Given the description of an element on the screen output the (x, y) to click on. 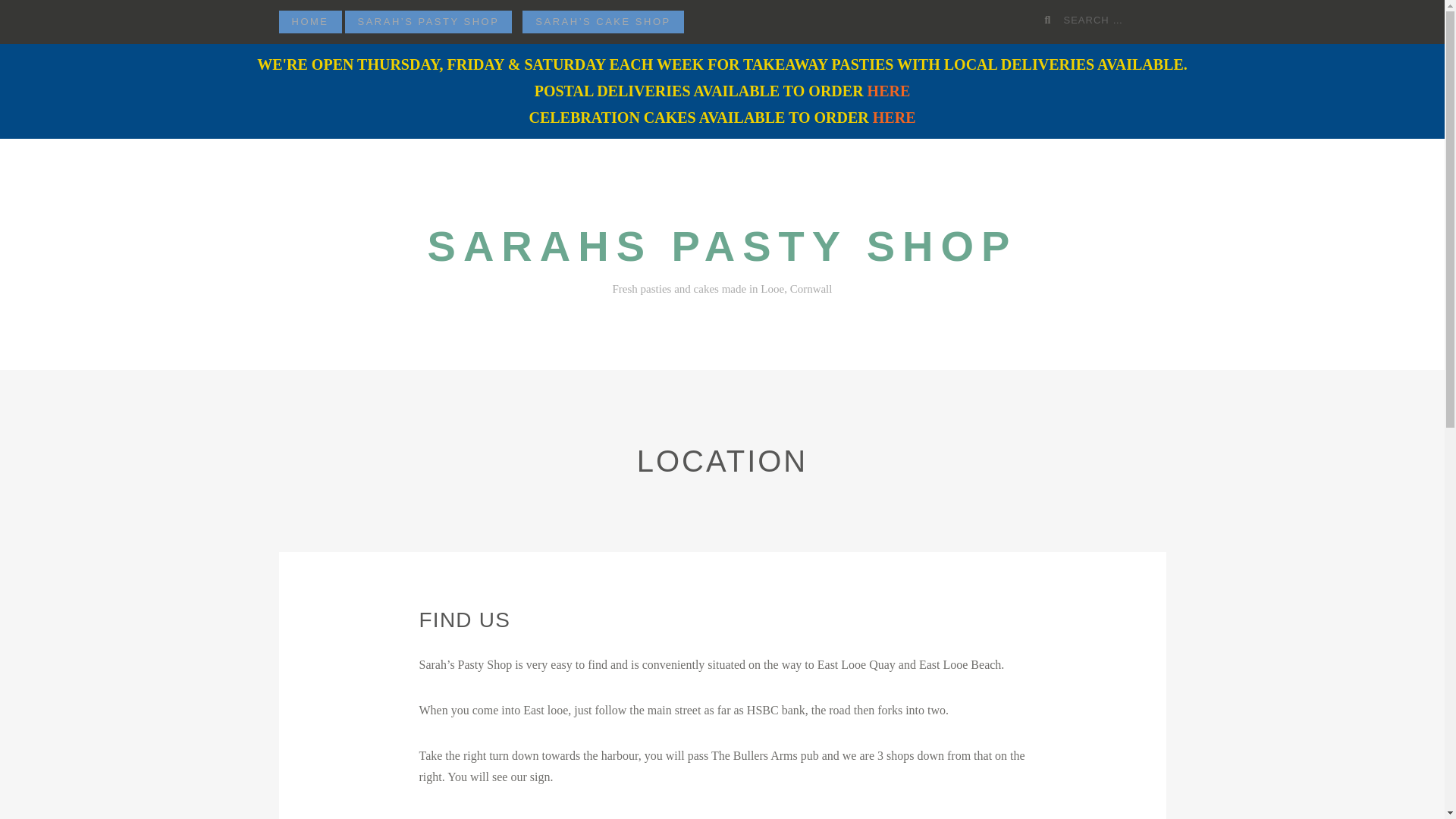
SARAHS PASTY SHOP (722, 245)
EXPAND CHILD MENU (682, 20)
HERE (893, 117)
HERE (889, 90)
EXPAND CHILD MENU (509, 20)
HOME (310, 21)
